Given the description of an element on the screen output the (x, y) to click on. 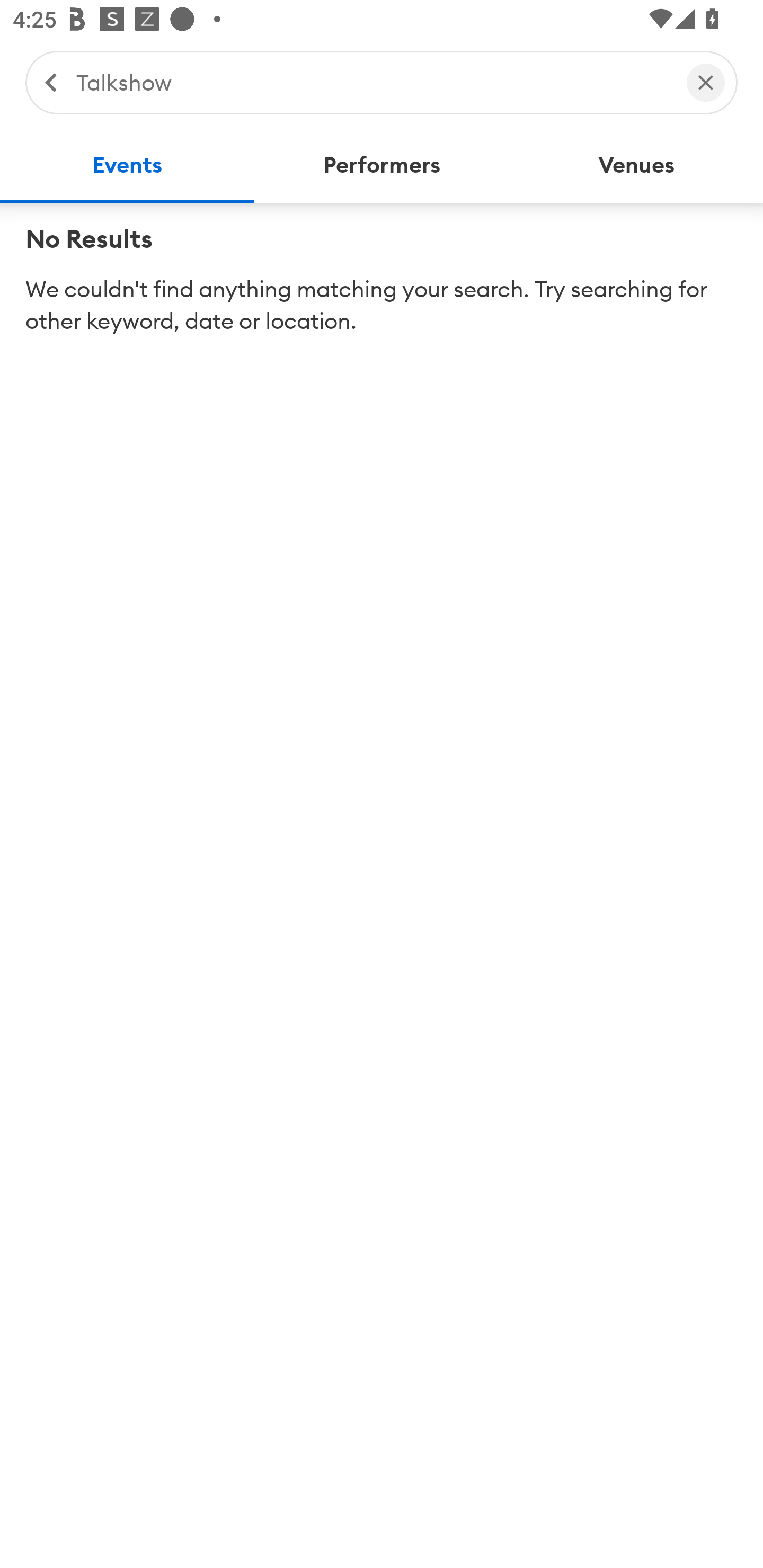
Talkshow (371, 81)
Clear Search (705, 81)
Performers (381, 165)
Venues (635, 165)
